Given the description of an element on the screen output the (x, y) to click on. 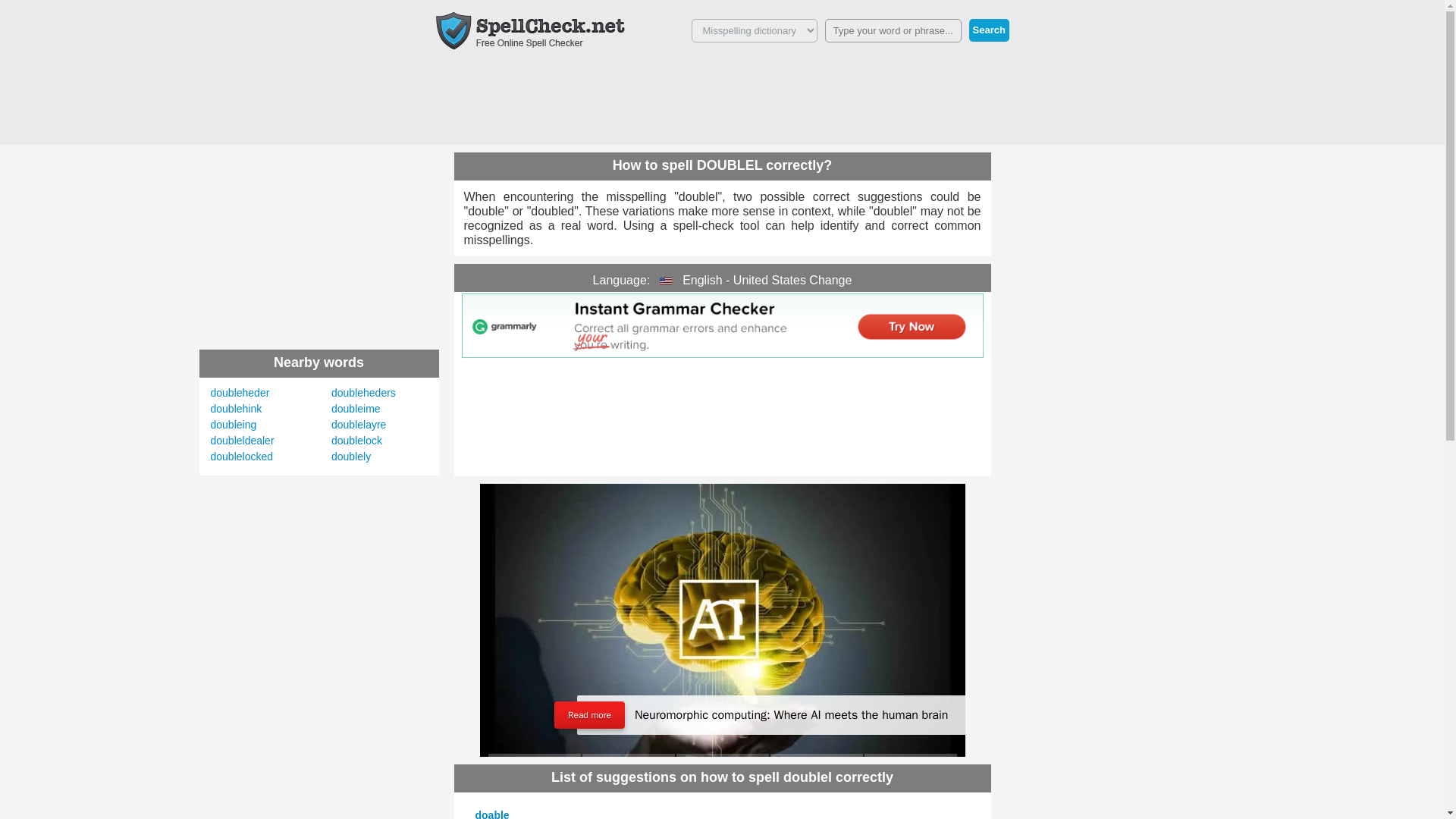
doubleheder (240, 392)
doubleheders (363, 392)
Spellcheck.net (529, 30)
doublelocked (242, 456)
doublely (351, 456)
doubleing (234, 424)
doubleime (355, 408)
Search (989, 29)
doubleheders (363, 392)
doublehink (236, 408)
